Given the description of an element on the screen output the (x, y) to click on. 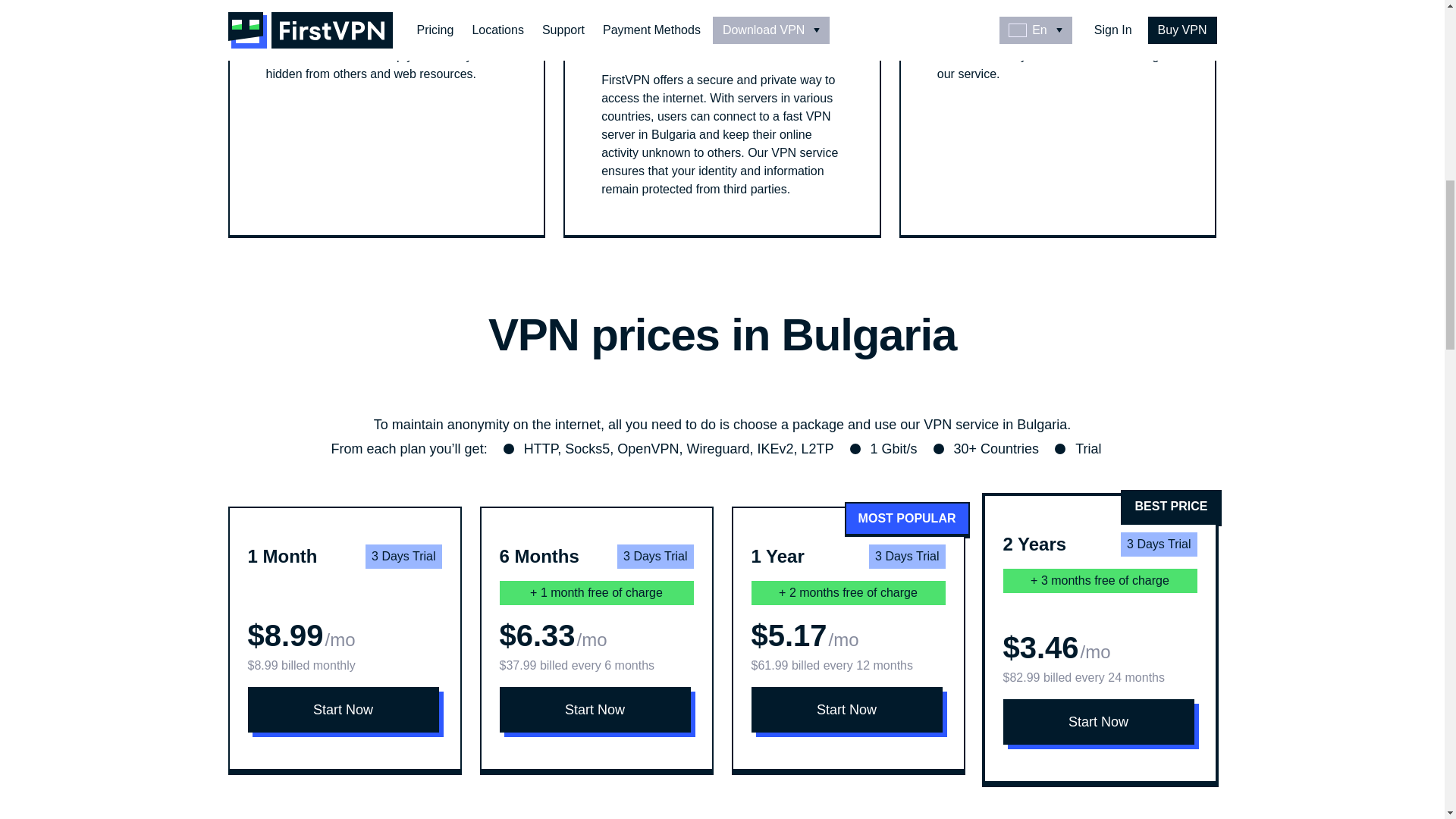
Start Now (594, 709)
Start Now (1098, 721)
Start Now (342, 709)
Start Now (846, 709)
